Given the description of an element on the screen output the (x, y) to click on. 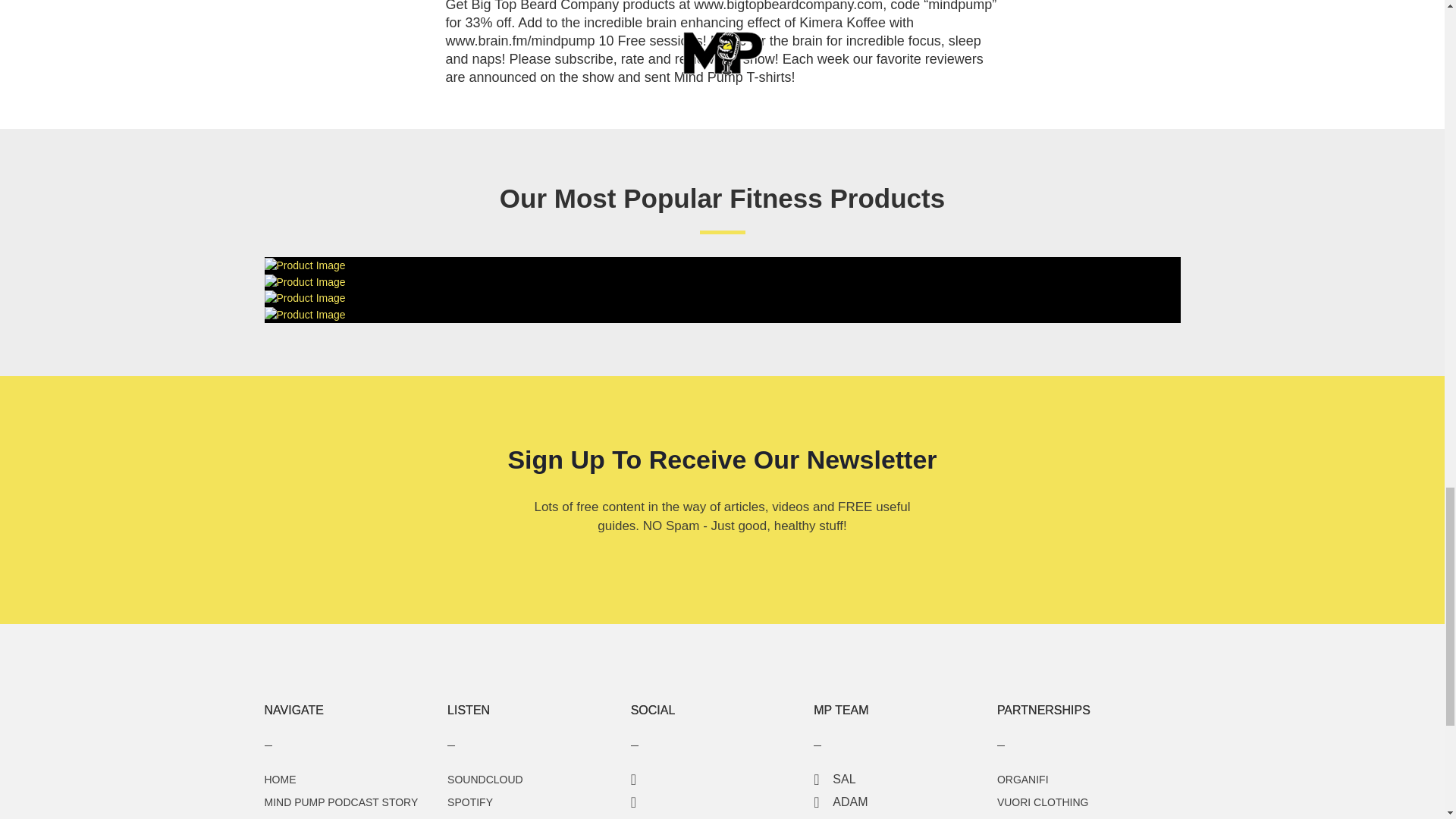
HOME (279, 779)
MIND PUMP PODCAST STORY (340, 802)
ORGANIFI (1022, 779)
SAL (834, 779)
SPOTIFY (469, 802)
JUSTIN (844, 818)
SOUNDCLOUD (484, 779)
ADAM (840, 801)
VUORI CLOTHING (1043, 802)
